Given the description of an element on the screen output the (x, y) to click on. 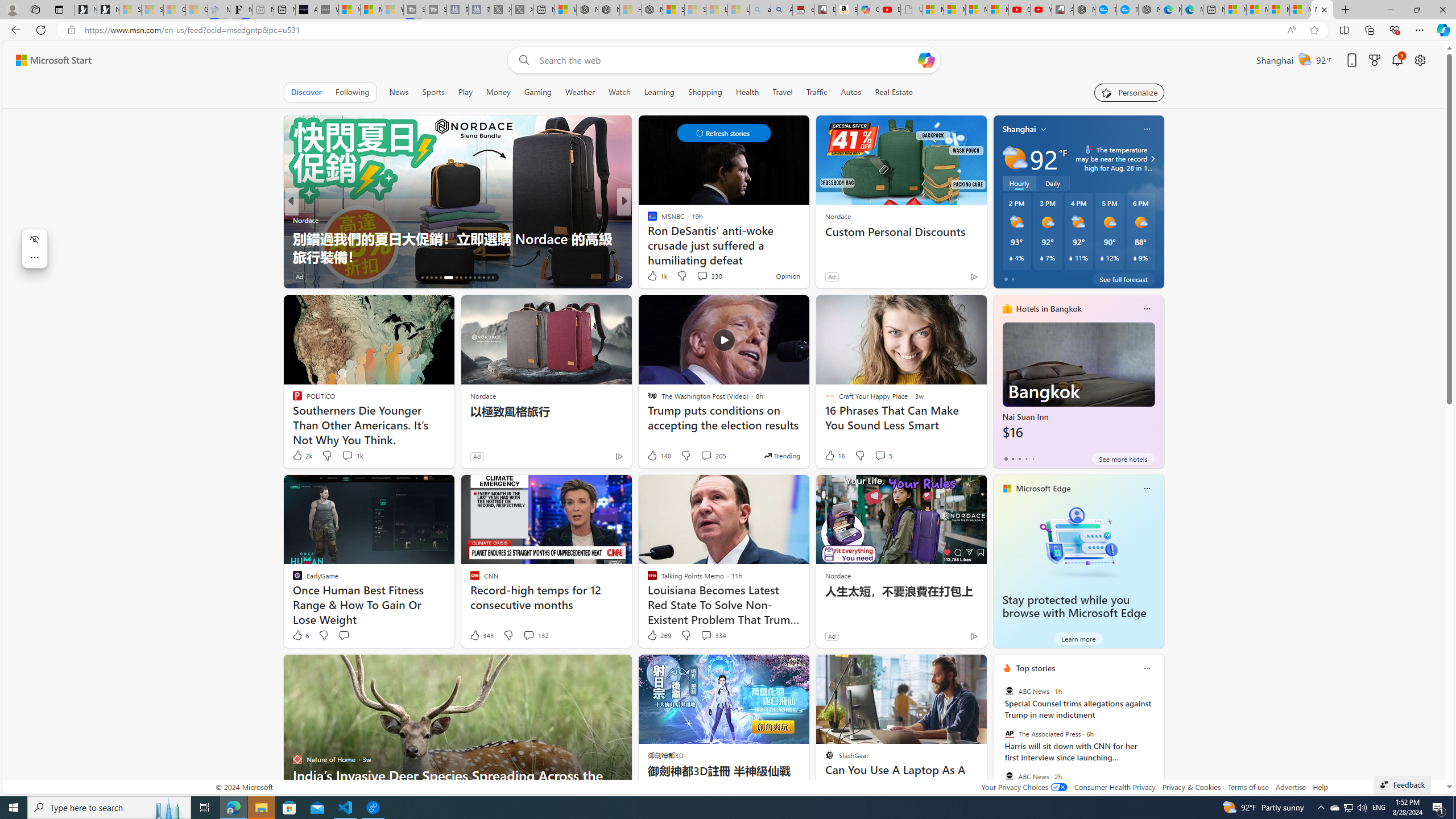
AutomationID: tab-16 (422, 277)
Shanghai (1018, 128)
See full forecast (1123, 278)
Untitled (911, 9)
AutomationID: tab-24 (465, 277)
View comments 1k Comment (346, 455)
